Given the description of an element on the screen output the (x, y) to click on. 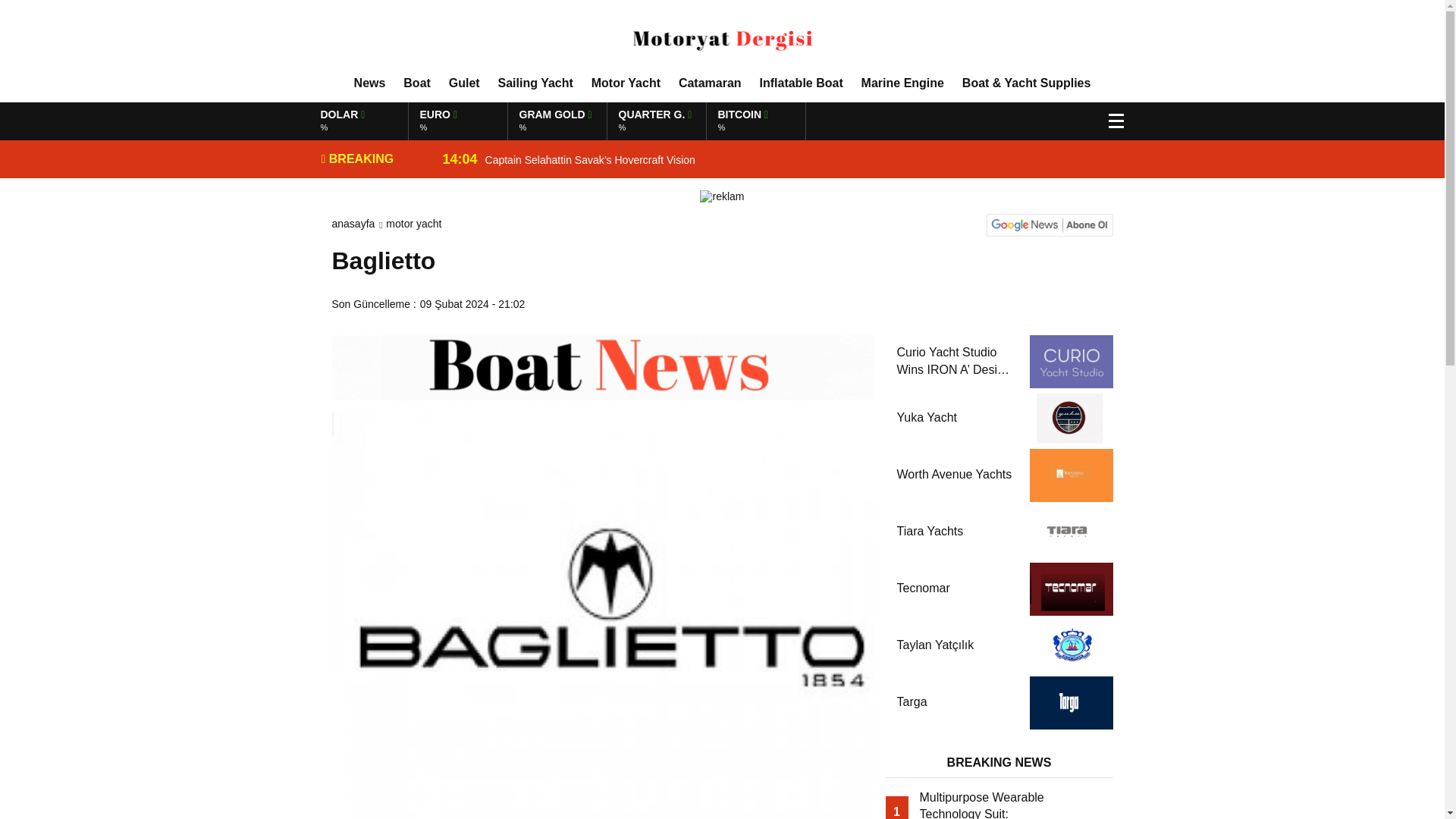
anasayfa (353, 223)
Portable Air Conditioner And Fridge For Boats (774, 121)
Motor Yacht (625, 83)
News (369, 83)
motor yacht (413, 223)
Catamaran (774, 121)
Inflatable Boat (710, 83)
Sailing Yacht (800, 83)
Marine Engine (535, 83)
Gulet (902, 83)
Boat (464, 83)
